Given the description of an element on the screen output the (x, y) to click on. 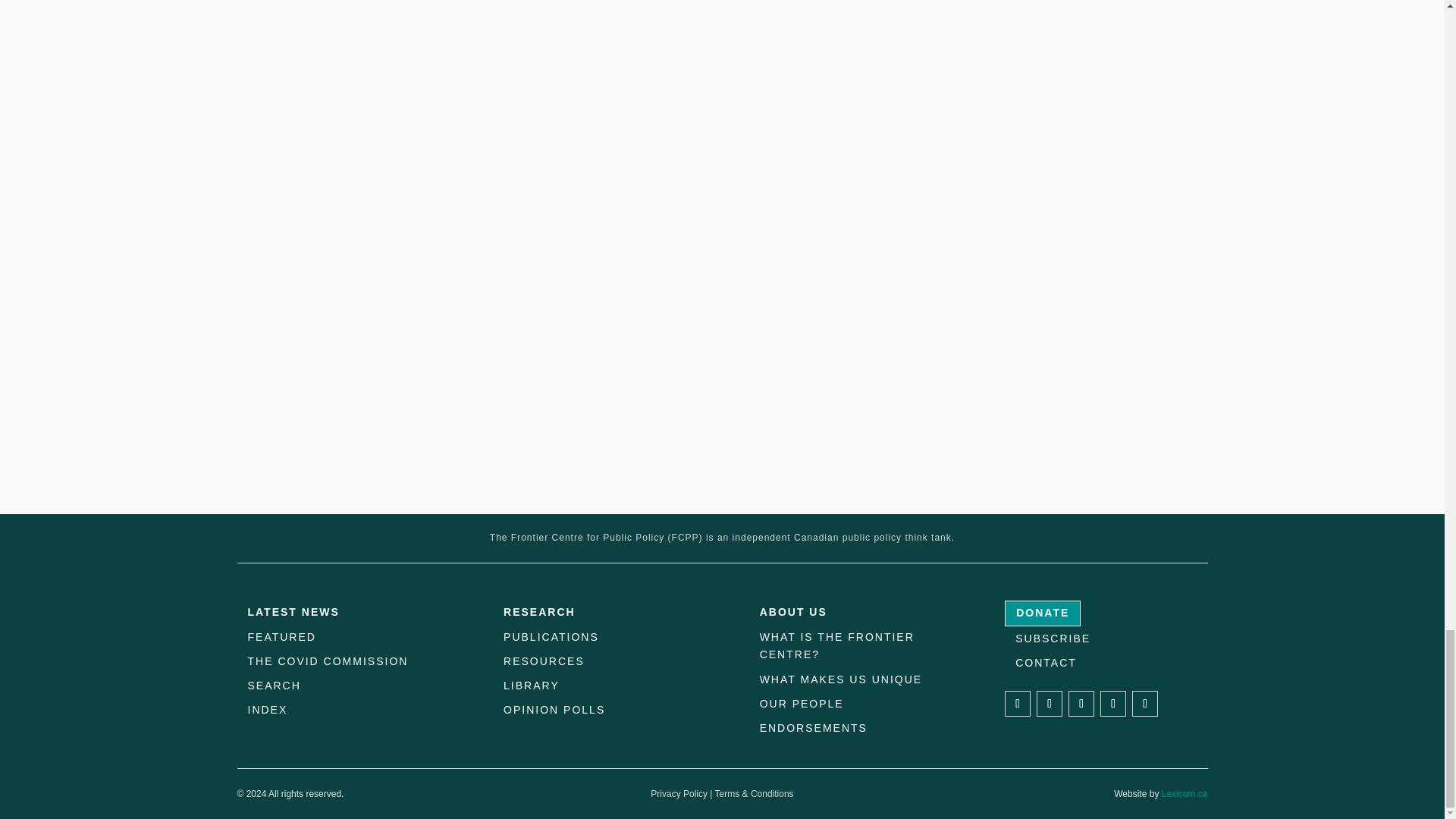
Follow on Facebook (1017, 703)
Follow on X (1049, 703)
Follow on Youtube (1144, 703)
Follow on SoundCloud (1112, 703)
Follow on LinkedIn (1081, 703)
Lexicom.ca (1184, 793)
